Given the description of an element on the screen output the (x, y) to click on. 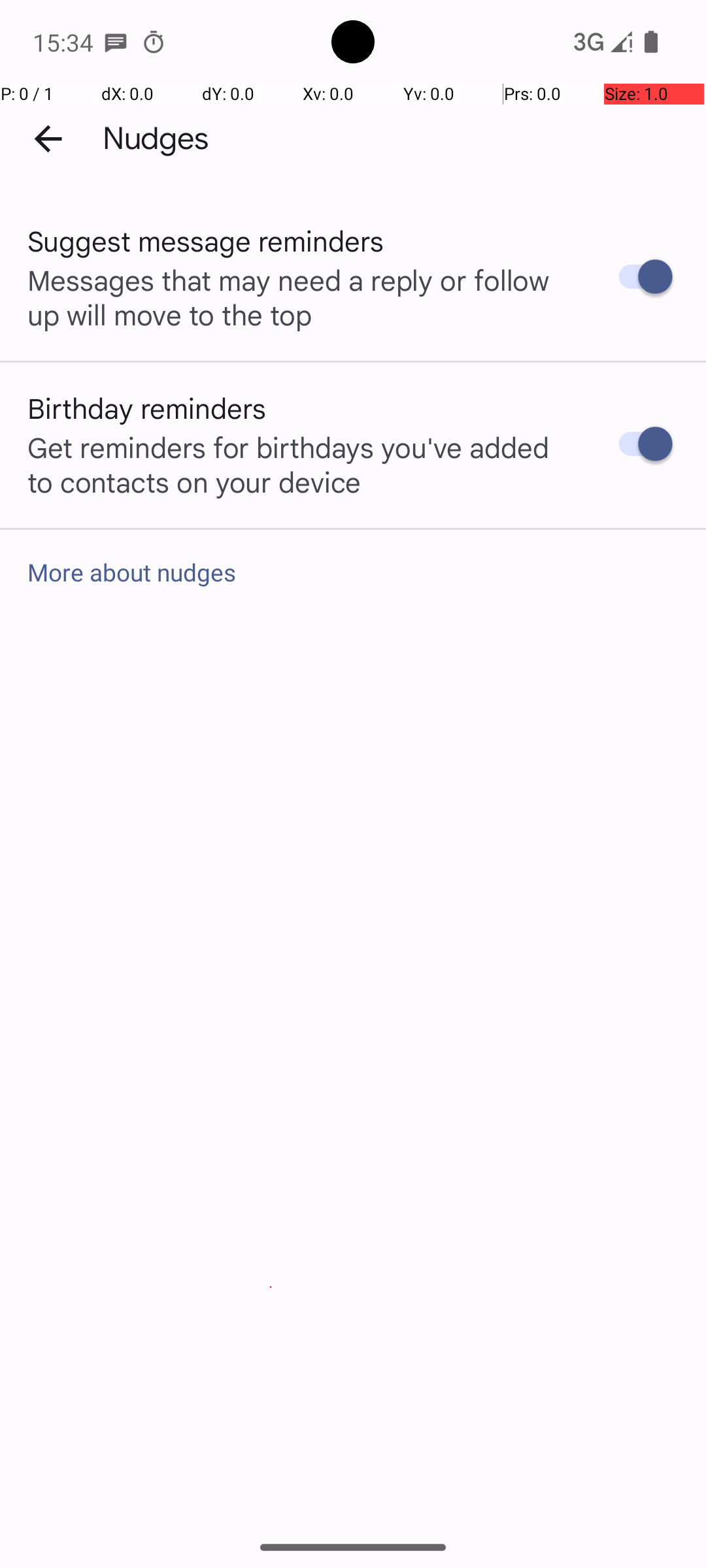
Nudges Element type: android.widget.TextView (155, 138)
More about nudges Element type: android.widget.TextView (353, 571)
Suggest message reminders Element type: android.widget.TextView (205, 240)
Messages that may need a reply or follow up will move to the top Element type: android.widget.TextView (299, 296)
Birthday reminders Element type: android.widget.TextView (146, 407)
Get reminders for birthdays you've added to contacts on your device Element type: android.widget.TextView (299, 463)
